Given the description of an element on the screen output the (x, y) to click on. 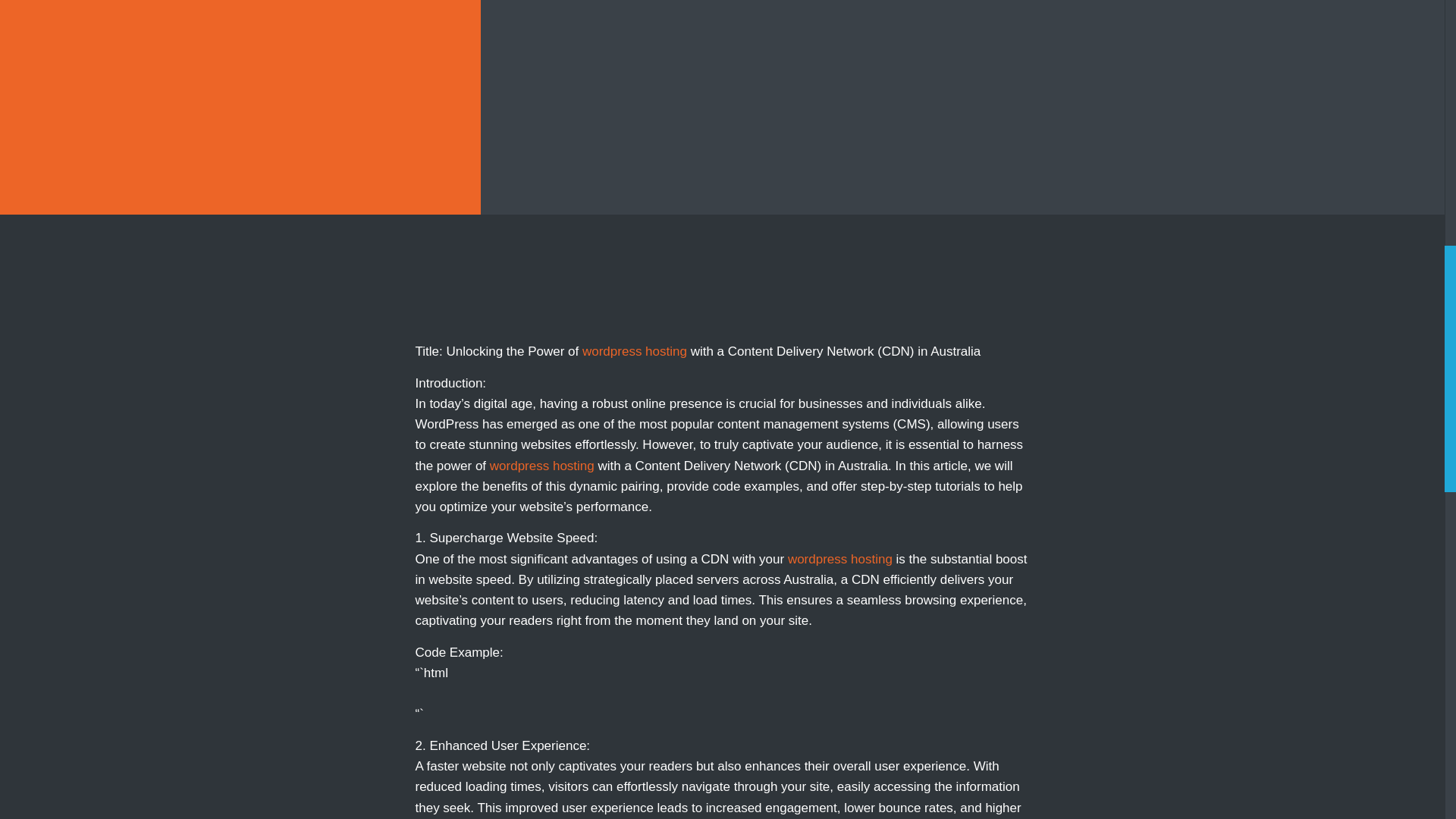
wordpress hosting (839, 559)
wordpress hosting (541, 465)
wordpress hosting (634, 350)
